Given the description of an element on the screen output the (x, y) to click on. 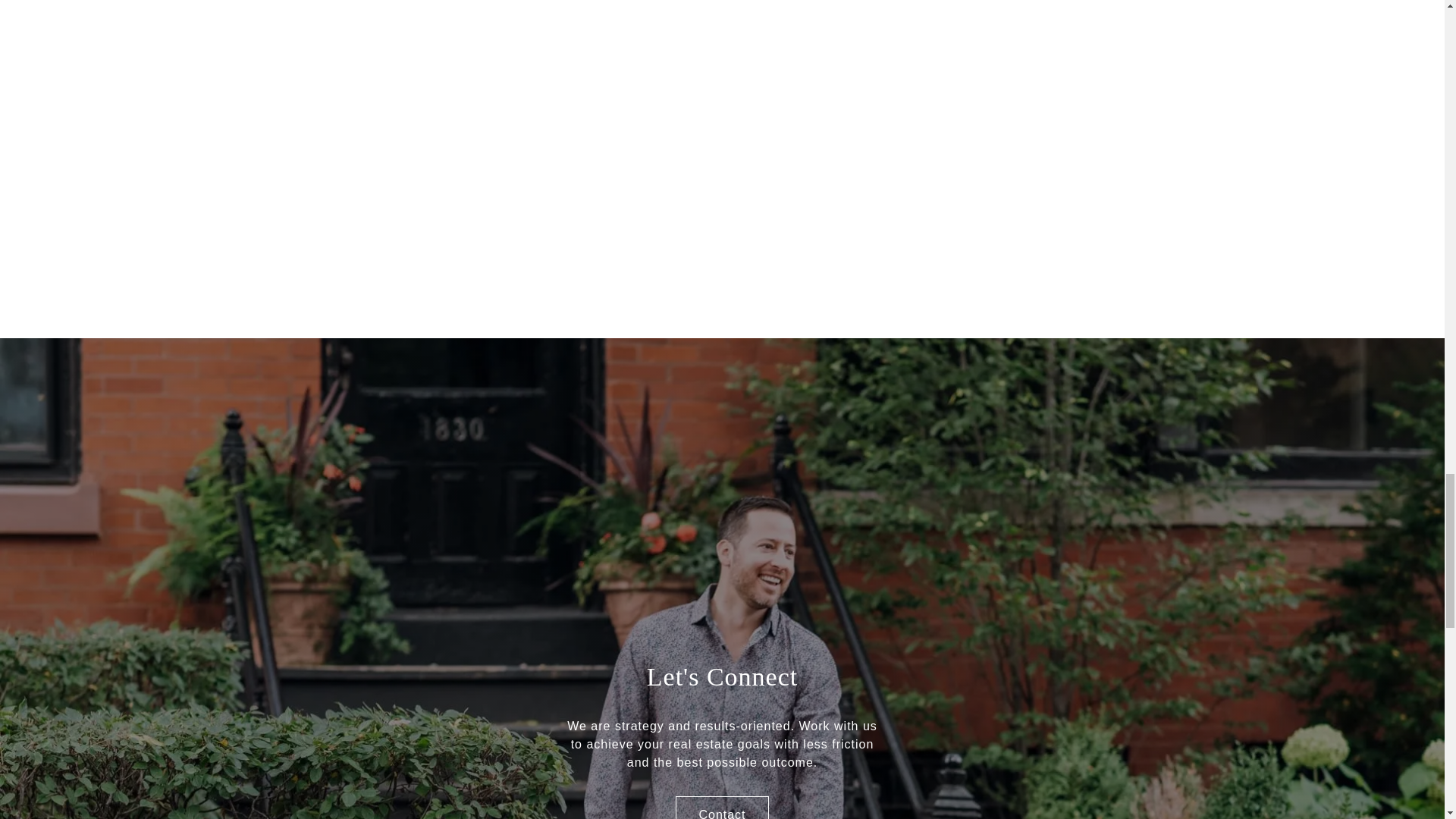
Contact (721, 807)
